Given the description of an element on the screen output the (x, y) to click on. 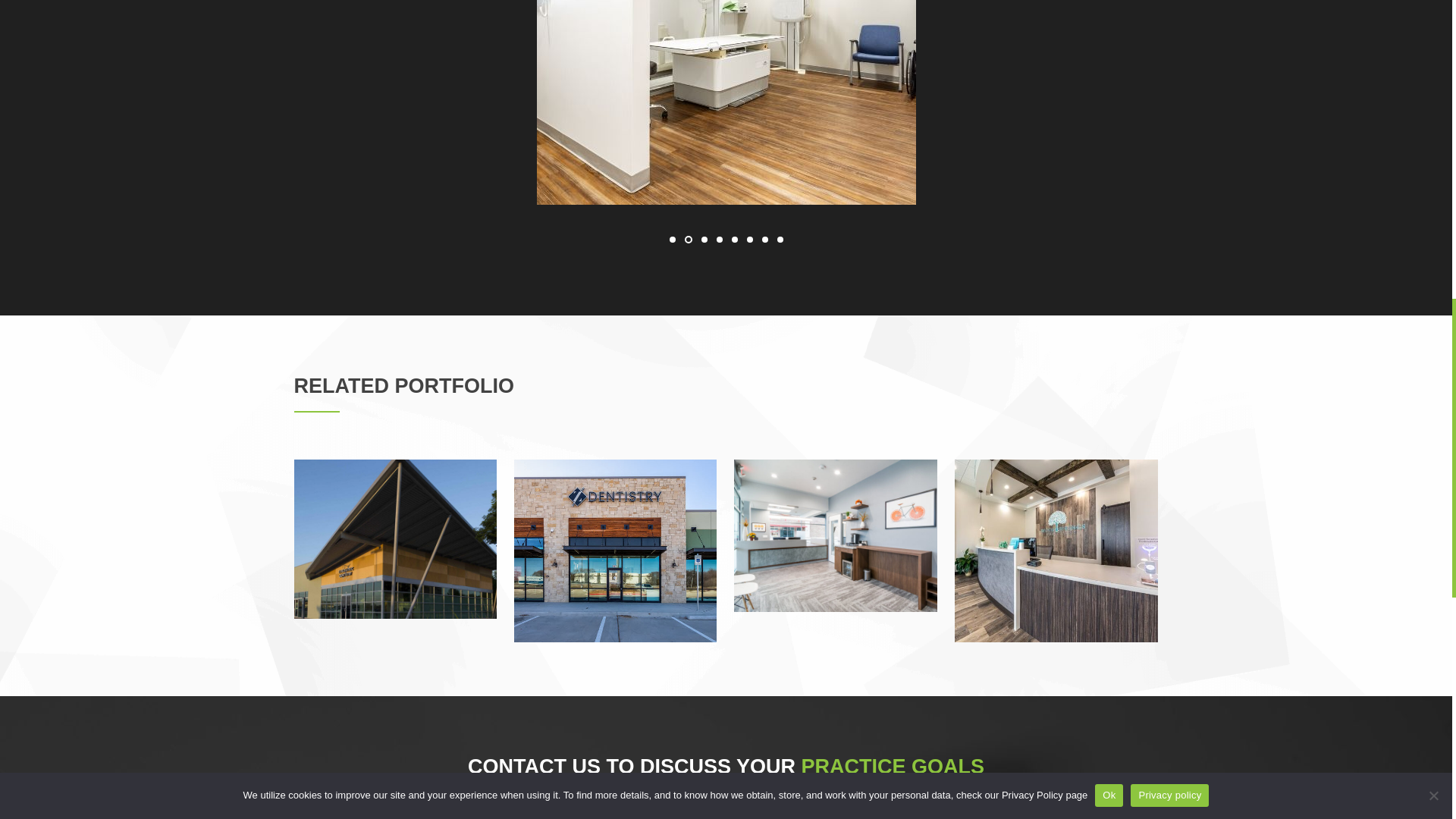
Z Pediatric Dentistry (395, 539)
Wylie Dentistry Co. (835, 535)
WoodSprings Dentistry (1056, 550)
Z Dentistry (615, 550)
